Given the description of an element on the screen output the (x, y) to click on. 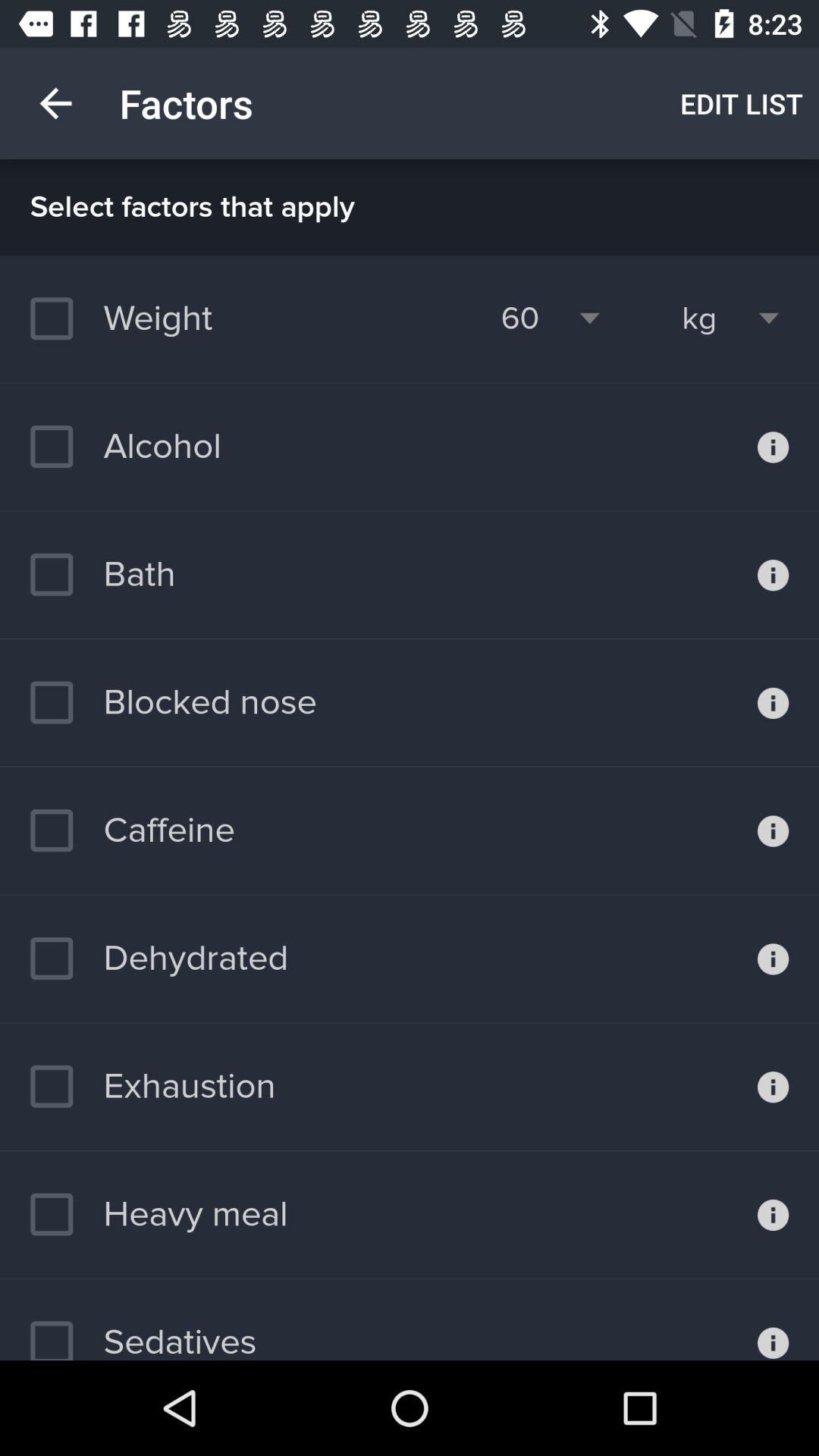
information on sedatives (773, 1319)
